Given the description of an element on the screen output the (x, y) to click on. 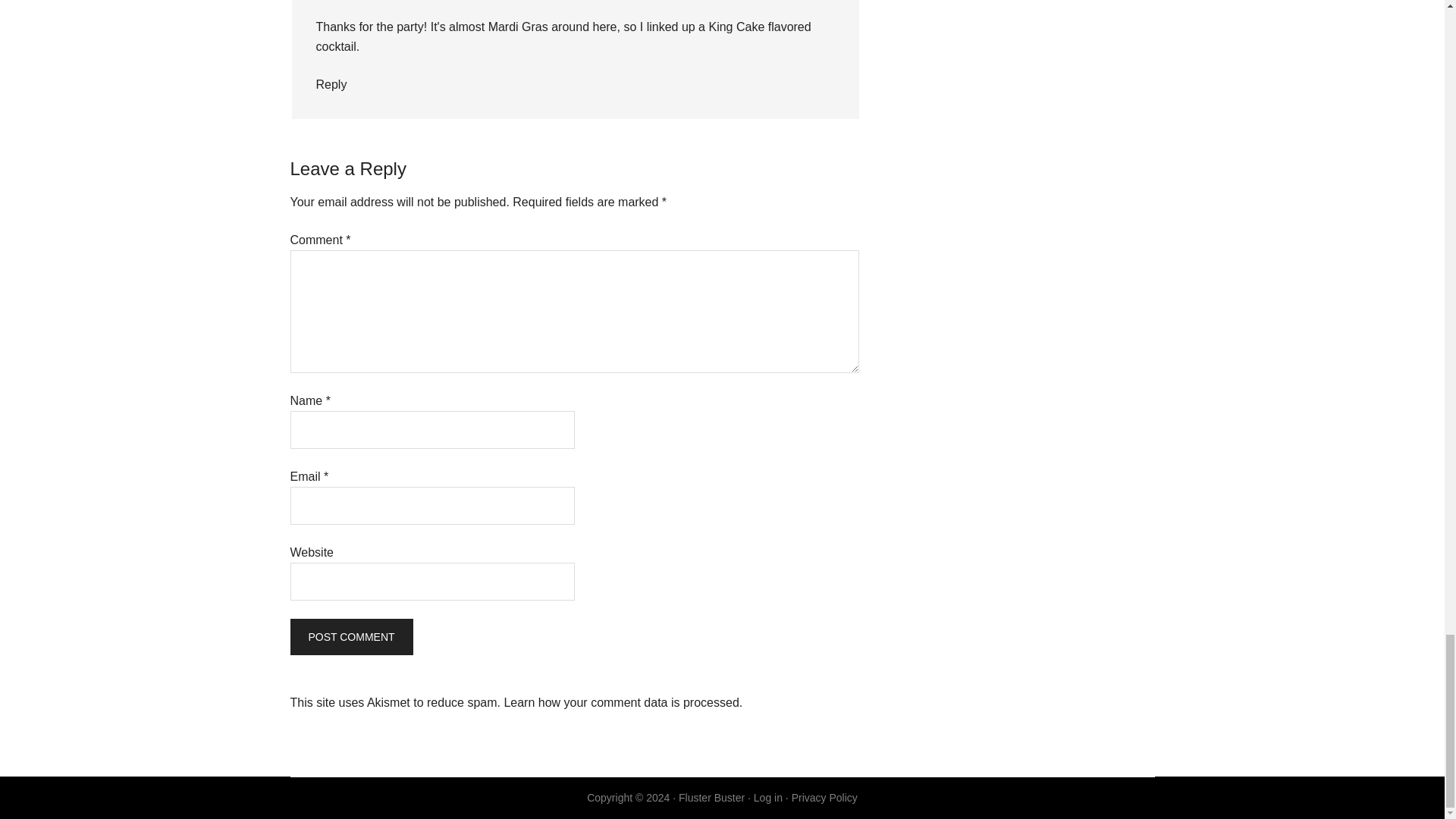
Post Comment (350, 637)
Reply (330, 83)
